Given the description of an element on the screen output the (x, y) to click on. 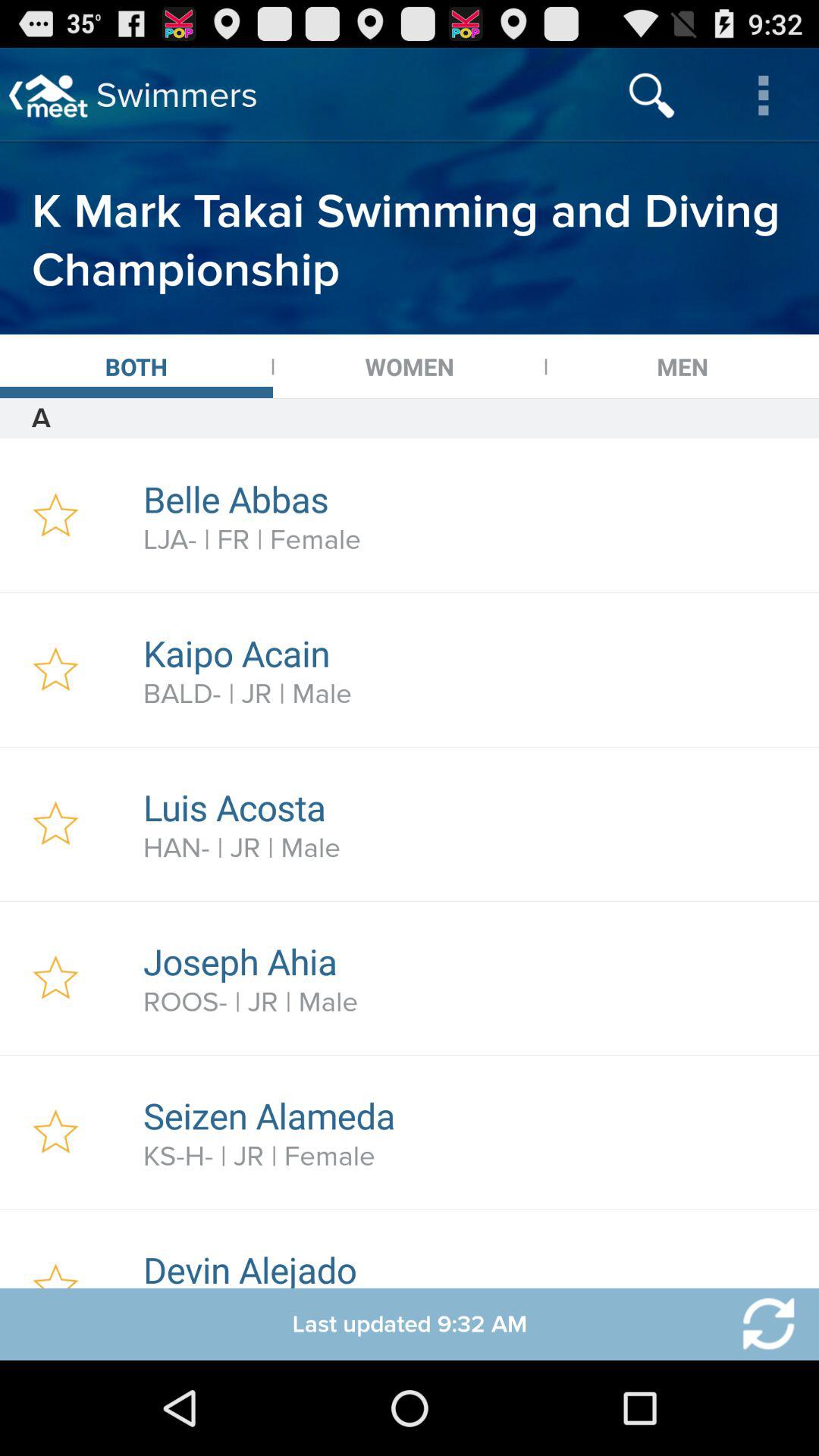
turn on the item above the roos- | jr | male item (473, 961)
